Given the description of an element on the screen output the (x, y) to click on. 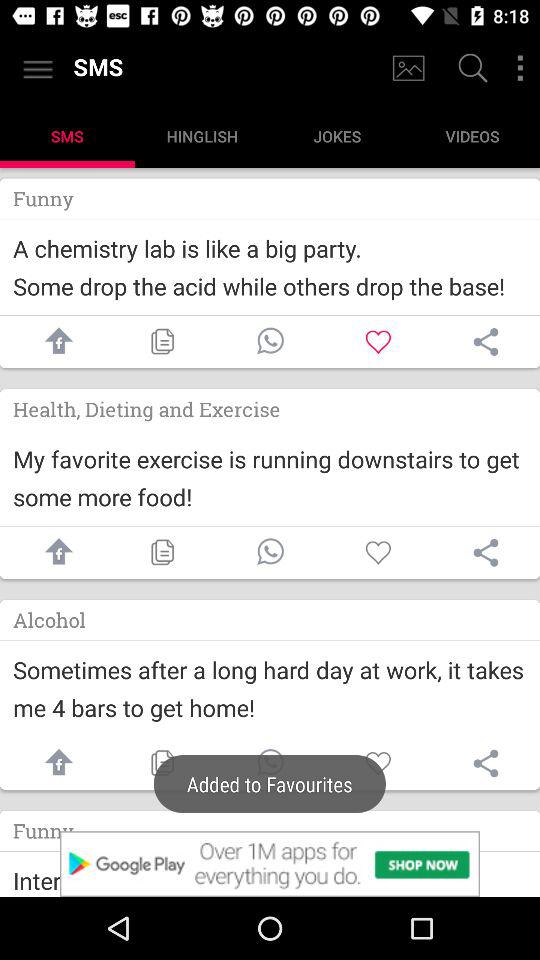
click to make a call (270, 341)
